Given the description of an element on the screen output the (x, y) to click on. 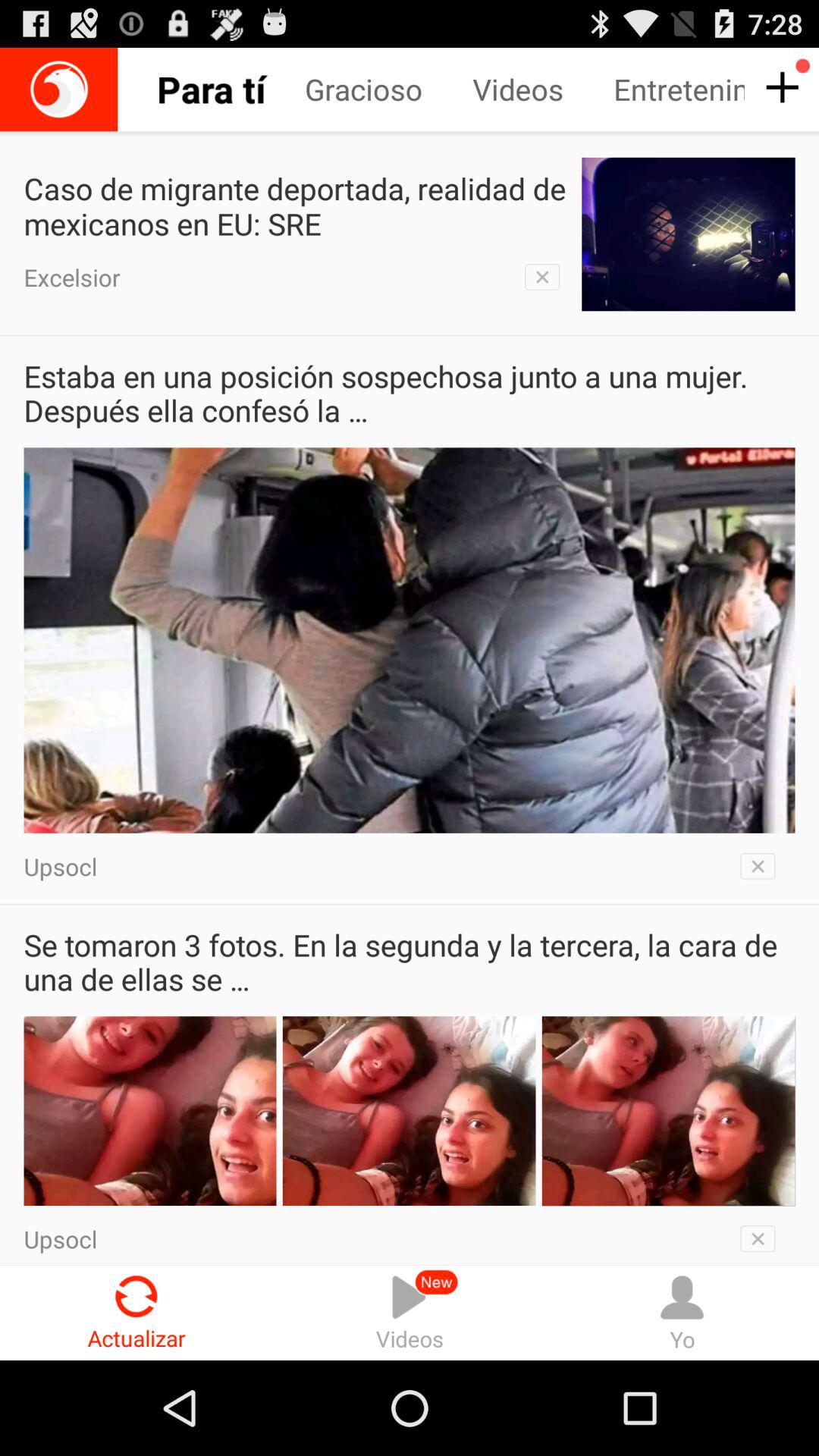
close window (762, 866)
